Given the description of an element on the screen output the (x, y) to click on. 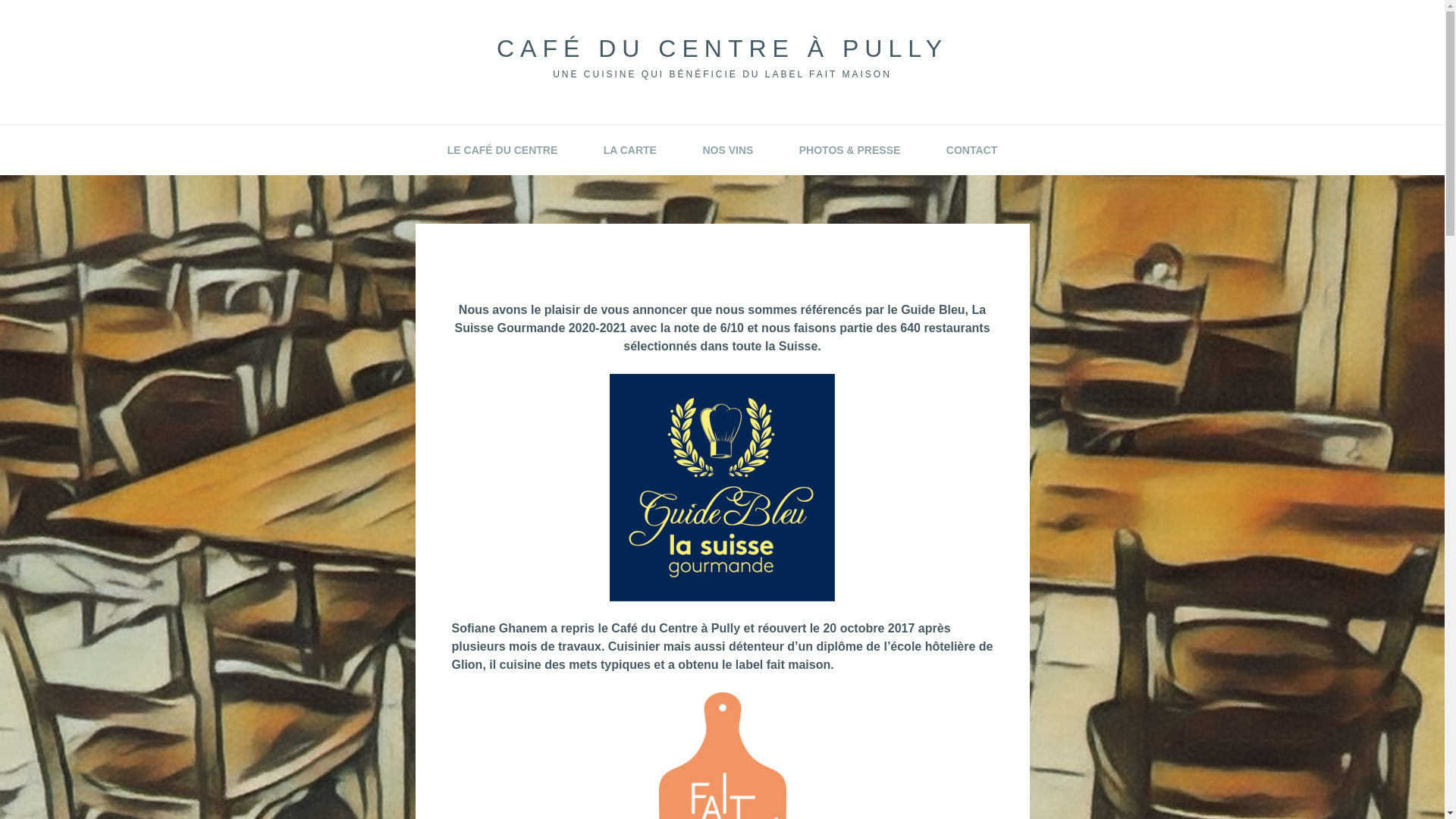
LA CARTE Element type: text (629, 150)
PHOTOS & PRESSE Element type: text (850, 150)
CONTACT Element type: text (971, 150)
NOS VINS Element type: text (727, 150)
